Given the description of an element on the screen output the (x, y) to click on. 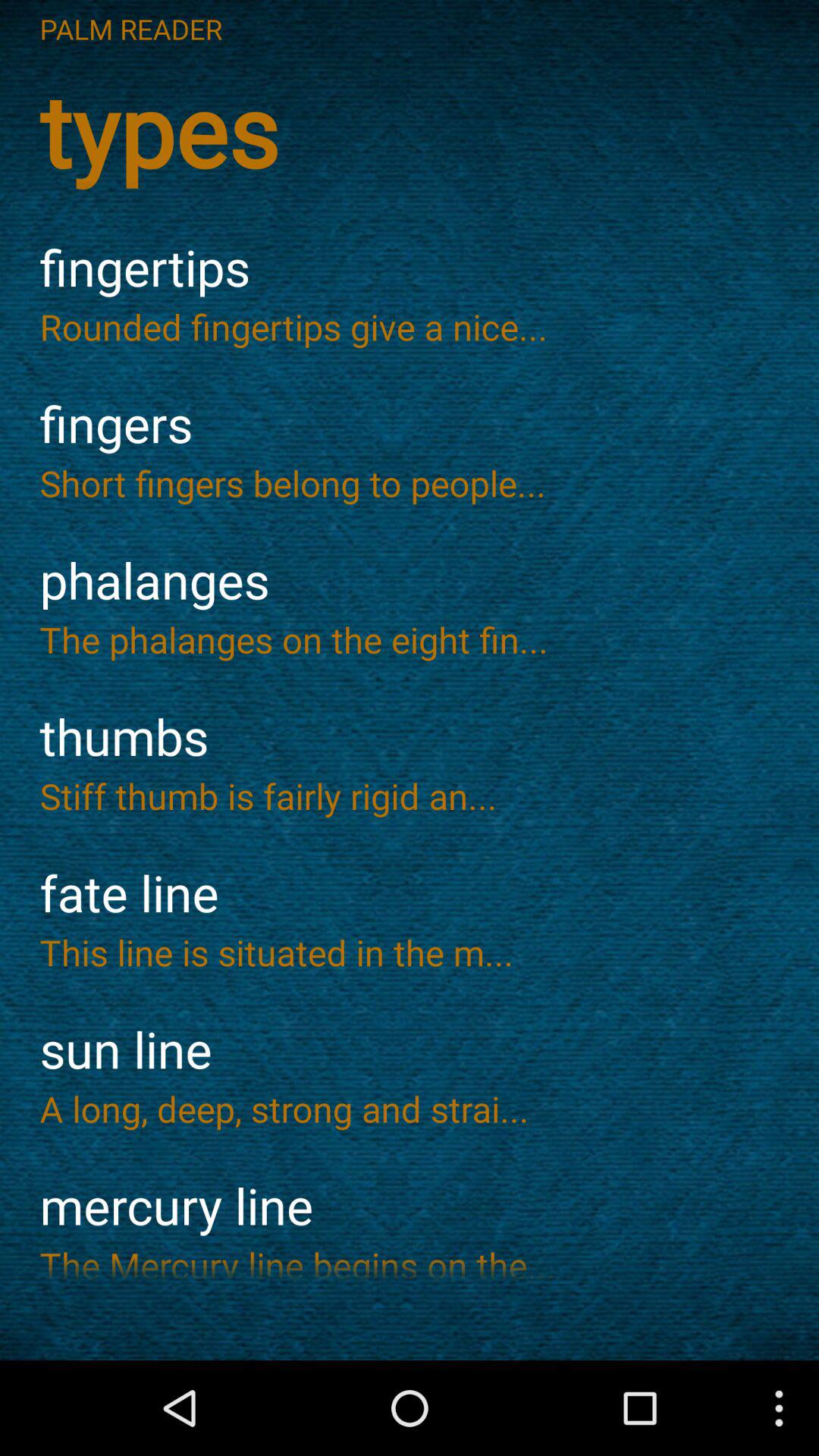
press the icon below the sun line item (409, 1108)
